Given the description of an element on the screen output the (x, y) to click on. 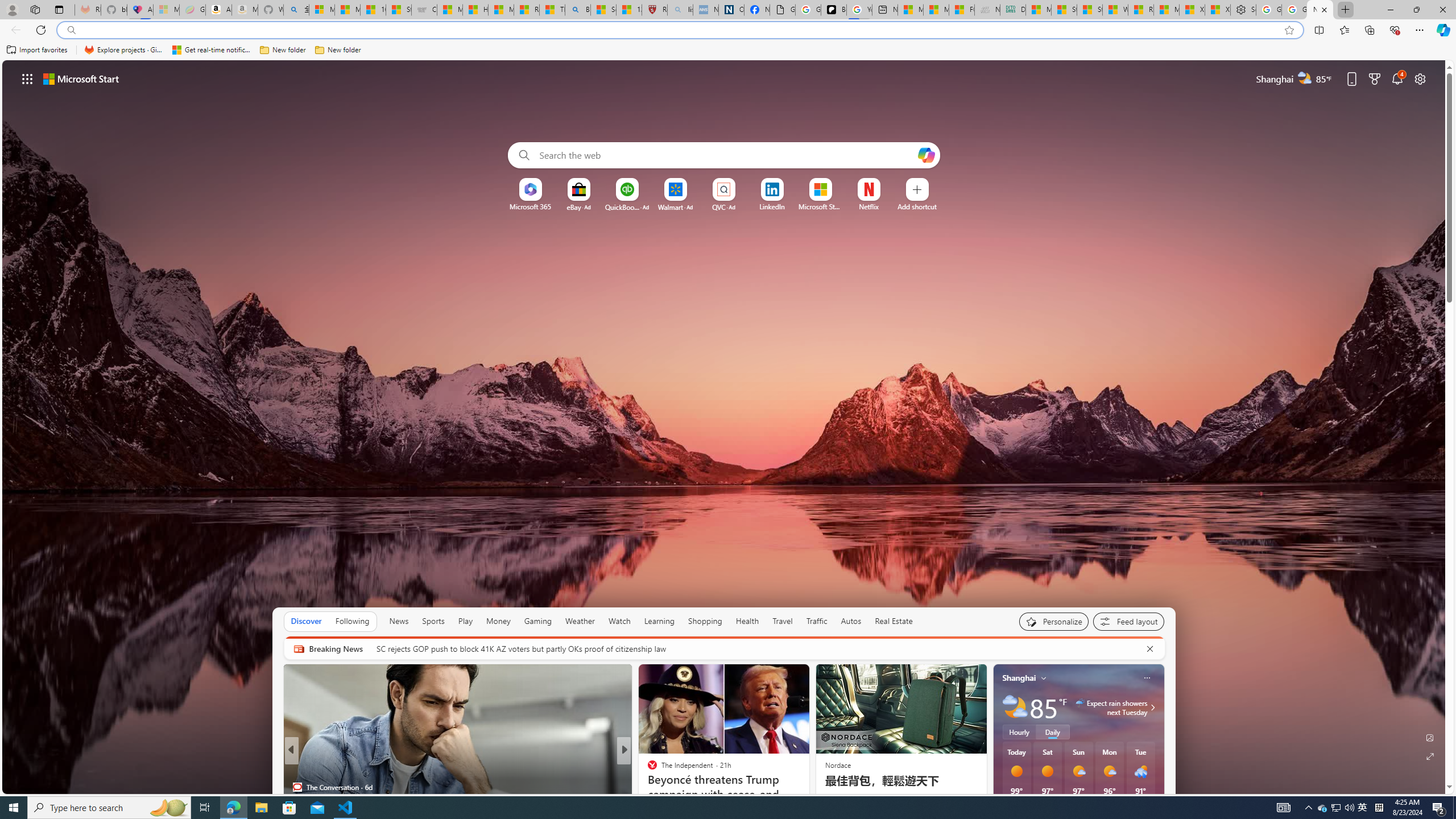
Add a site (916, 206)
Enter your search term (726, 155)
Autos (851, 621)
HowToGeek (647, 768)
How I Got Rid of Microsoft Edge's Unnecessary Features (475, 9)
Microsoft start (81, 78)
Rolling Stone (647, 768)
